Given the description of an element on the screen output the (x, y) to click on. 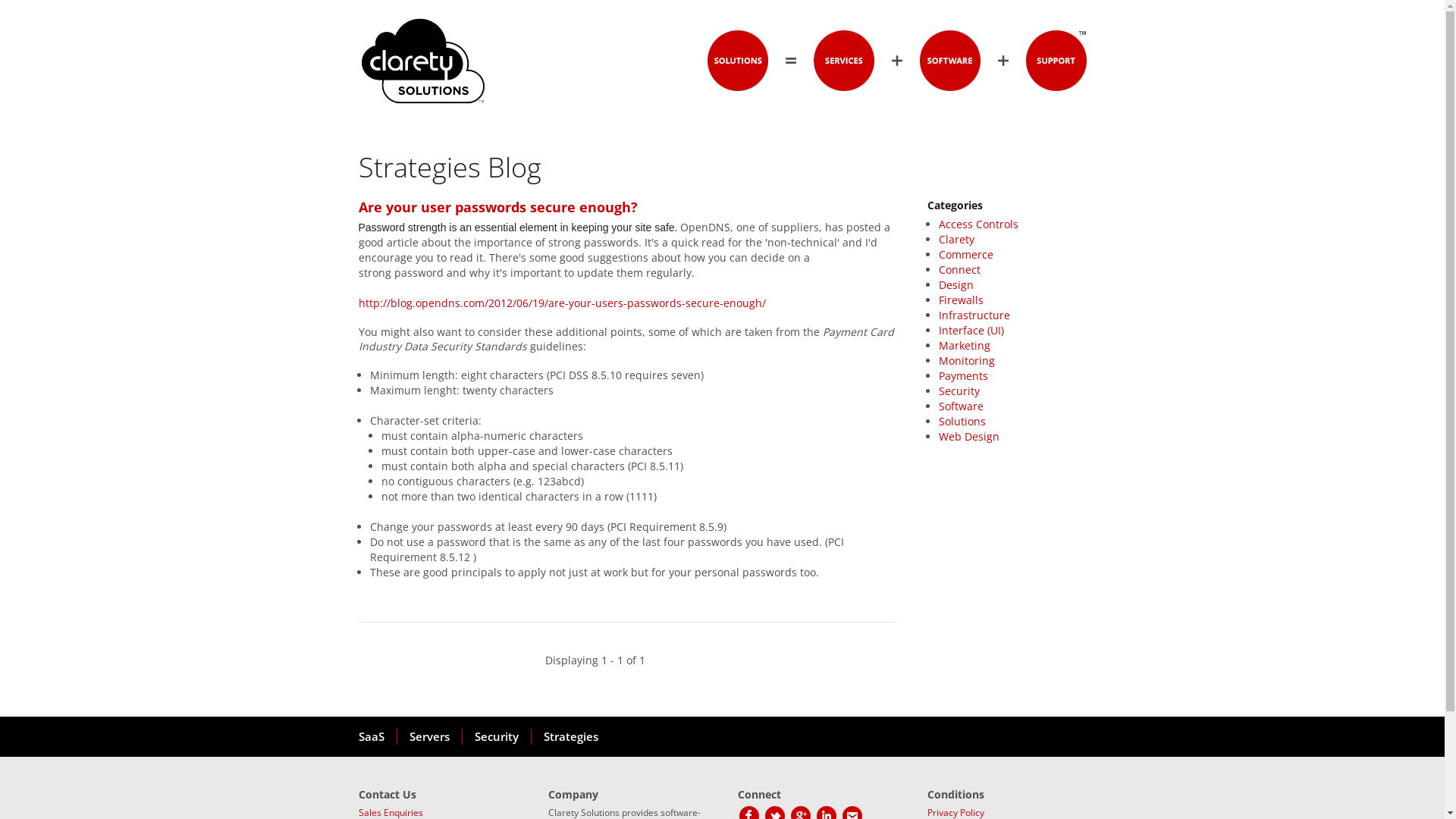
Interface (UI) Element type: text (971, 330)
Payments Element type: text (963, 375)
Infrastructure Element type: text (974, 314)
Software Element type: text (960, 405)
Solutions Element type: text (961, 421)
Commerce Element type: text (965, 254)
Web Design Element type: text (968, 436)
Marketing Element type: text (964, 345)
SaaS Element type: text (376, 736)
Access Controls Element type: text (978, 223)
Servers Element type: text (428, 736)
Monitoring Element type: text (966, 360)
Security Element type: text (495, 736)
Security Element type: text (958, 390)
Design Element type: text (955, 284)
Strategies Element type: text (570, 736)
Clarety Element type: text (956, 239)
Firewalls Element type: text (960, 299)
Connect Element type: text (959, 269)
